Given the description of an element on the screen output the (x, y) to click on. 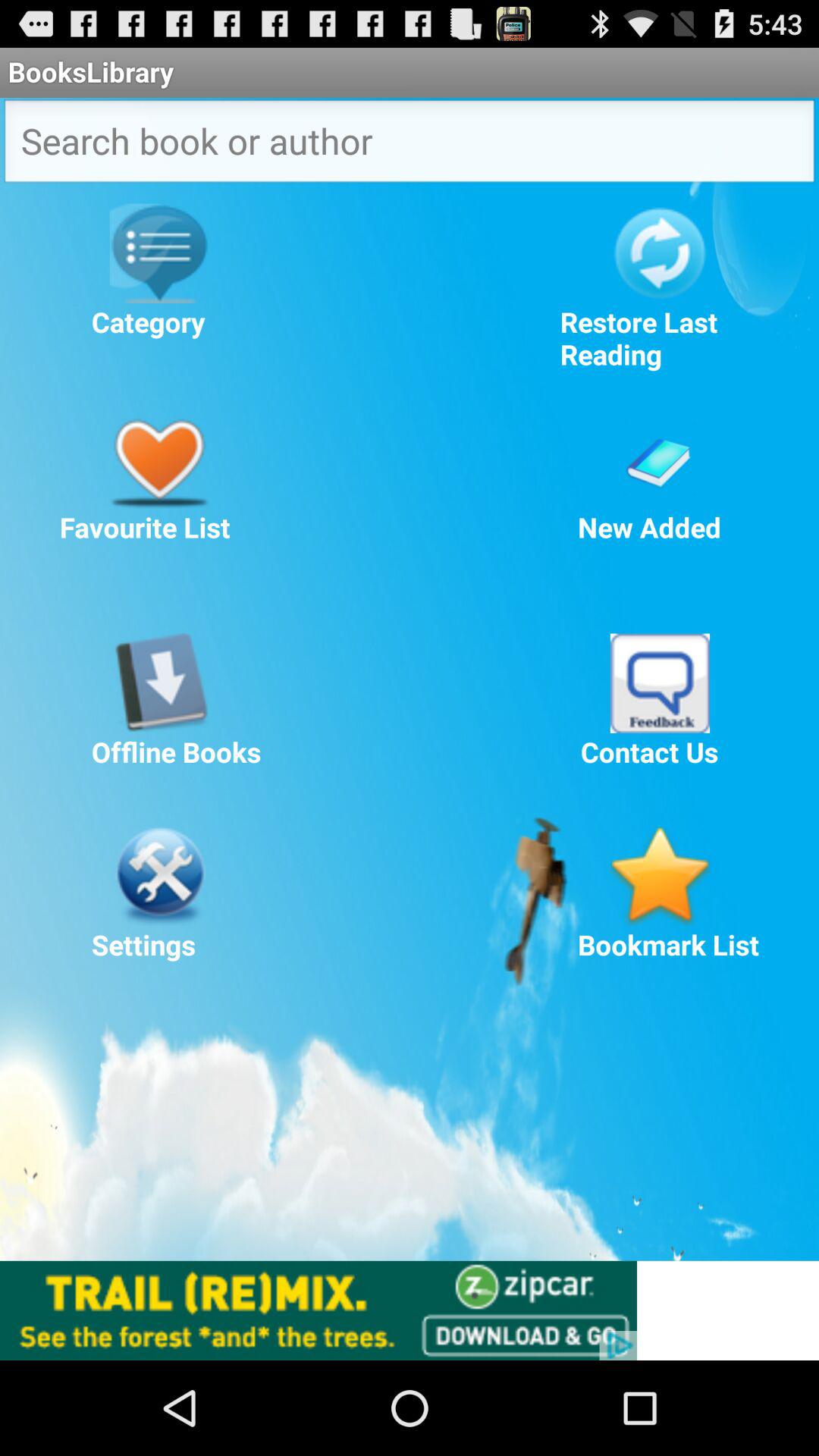
view bookmarks (659, 875)
